Given the description of an element on the screen output the (x, y) to click on. 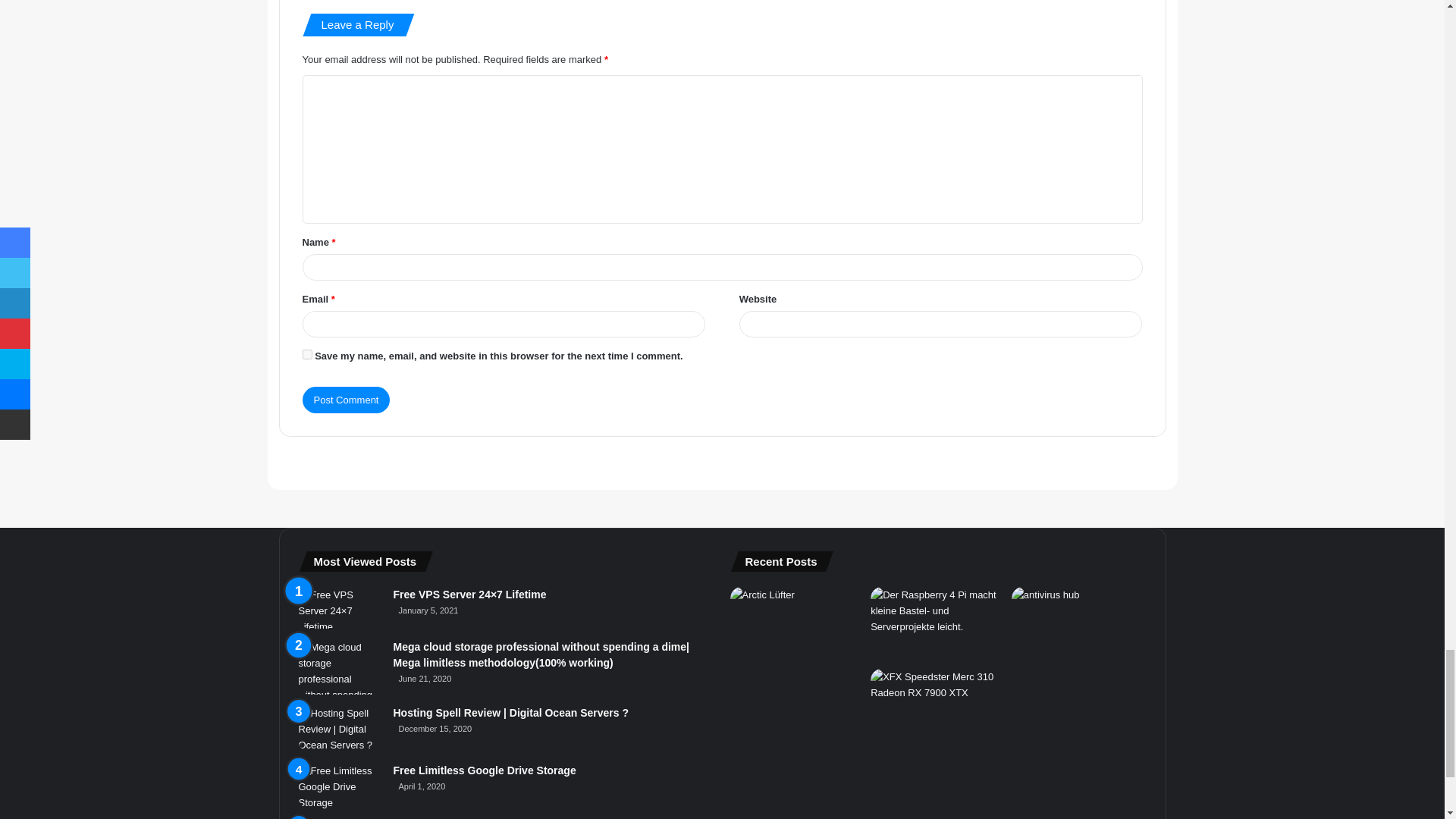
Post Comment (345, 399)
yes (306, 354)
